Given the description of an element on the screen output the (x, y) to click on. 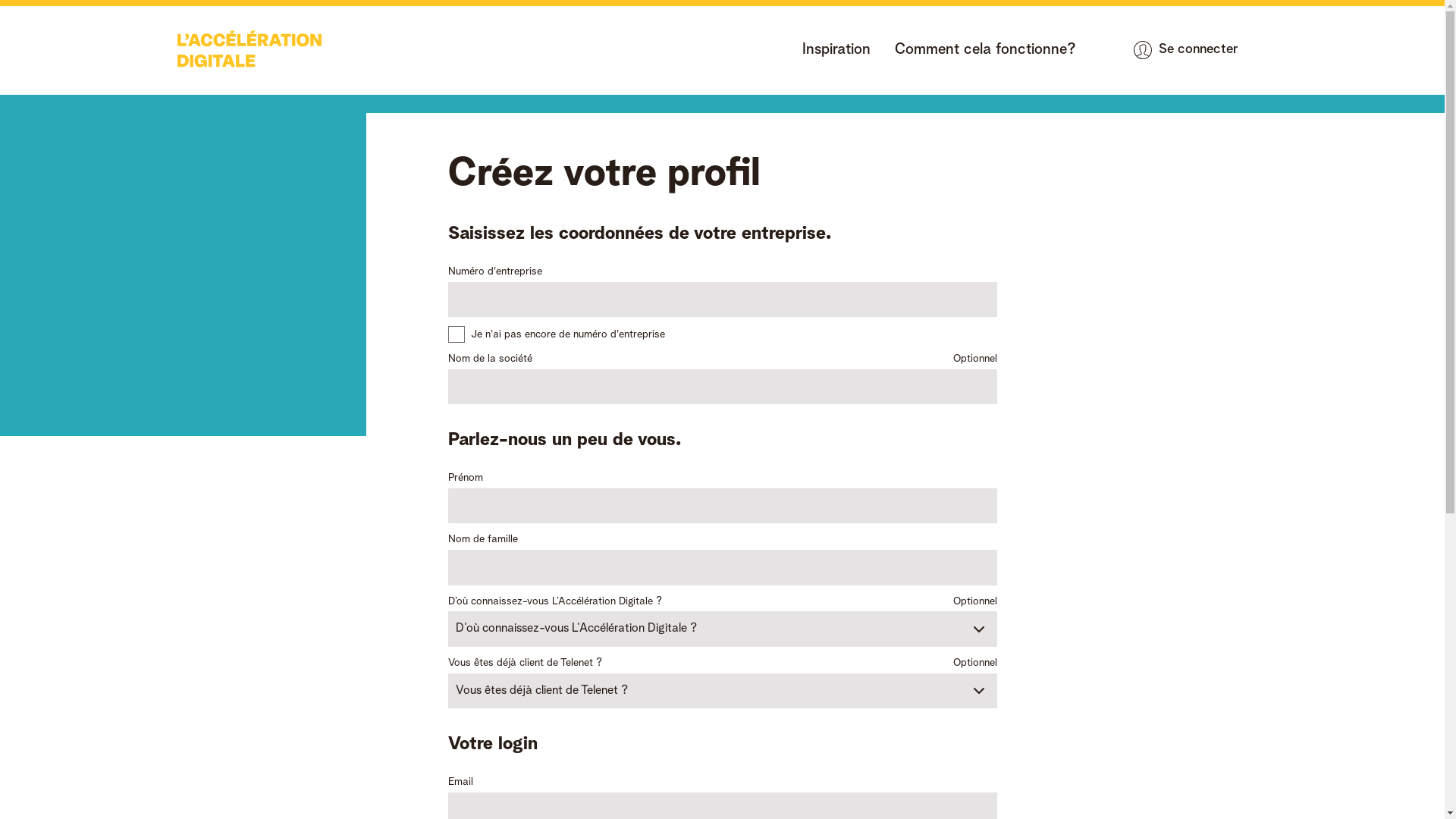
Inspiration Element type: text (836, 50)
Se connecter Element type: text (1183, 49)
Comment cela fonctionne? Element type: text (985, 50)
